Given the description of an element on the screen output the (x, y) to click on. 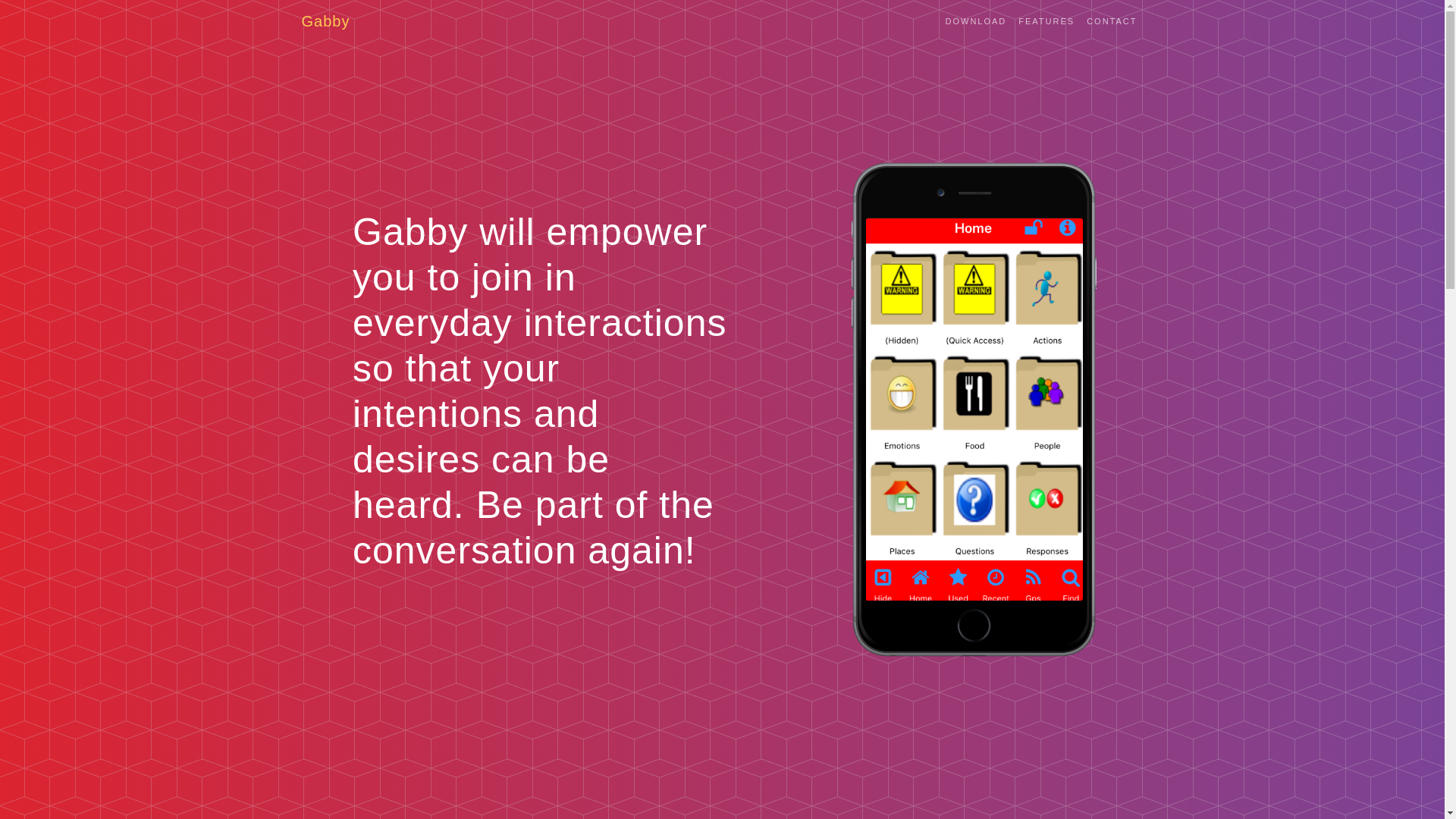
Gabby (325, 20)
Gabby (325, 20)
CONTACT (1111, 21)
DOWNLOAD (975, 21)
DOWNLOAD (975, 21)
FEATURES (1045, 21)
CONTACT (1111, 21)
FEATURES (1045, 21)
